Given the description of an element on the screen output the (x, y) to click on. 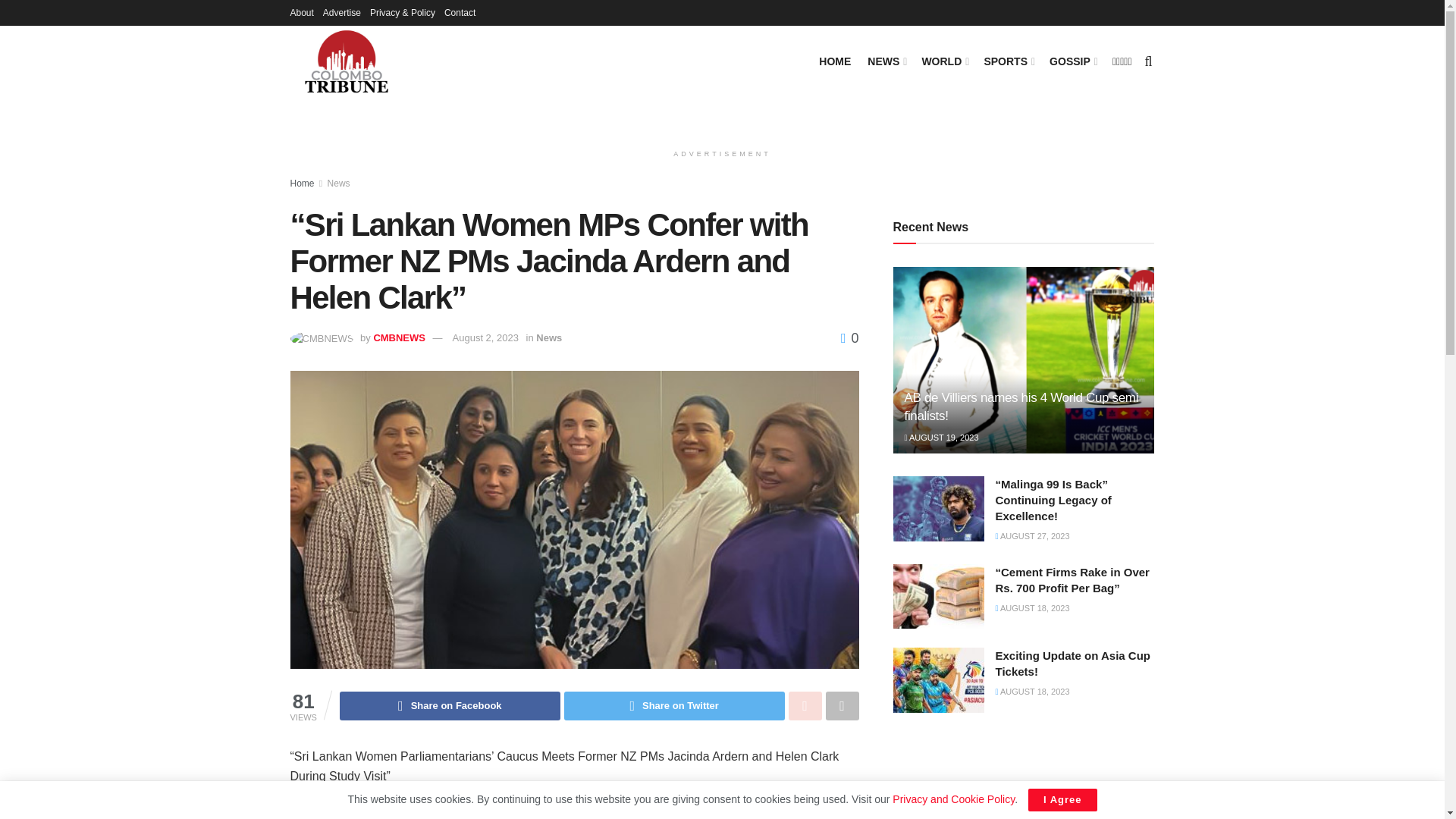
About (301, 12)
Contact (460, 12)
WORLD (943, 60)
Advertise (342, 12)
SPORTS (1008, 60)
HOME (834, 60)
NEWS (885, 60)
